Given the description of an element on the screen output the (x, y) to click on. 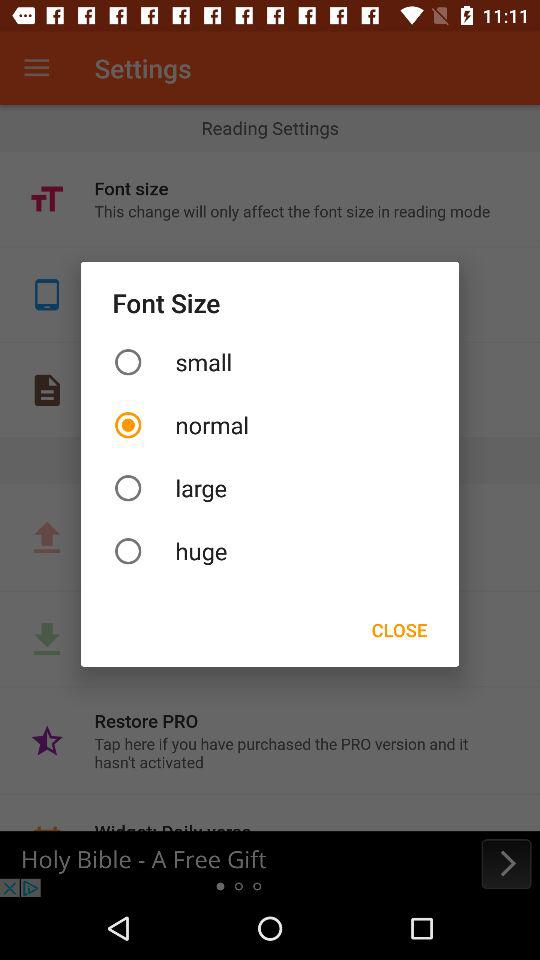
flip until the small (270, 361)
